Given the description of an element on the screen output the (x, y) to click on. 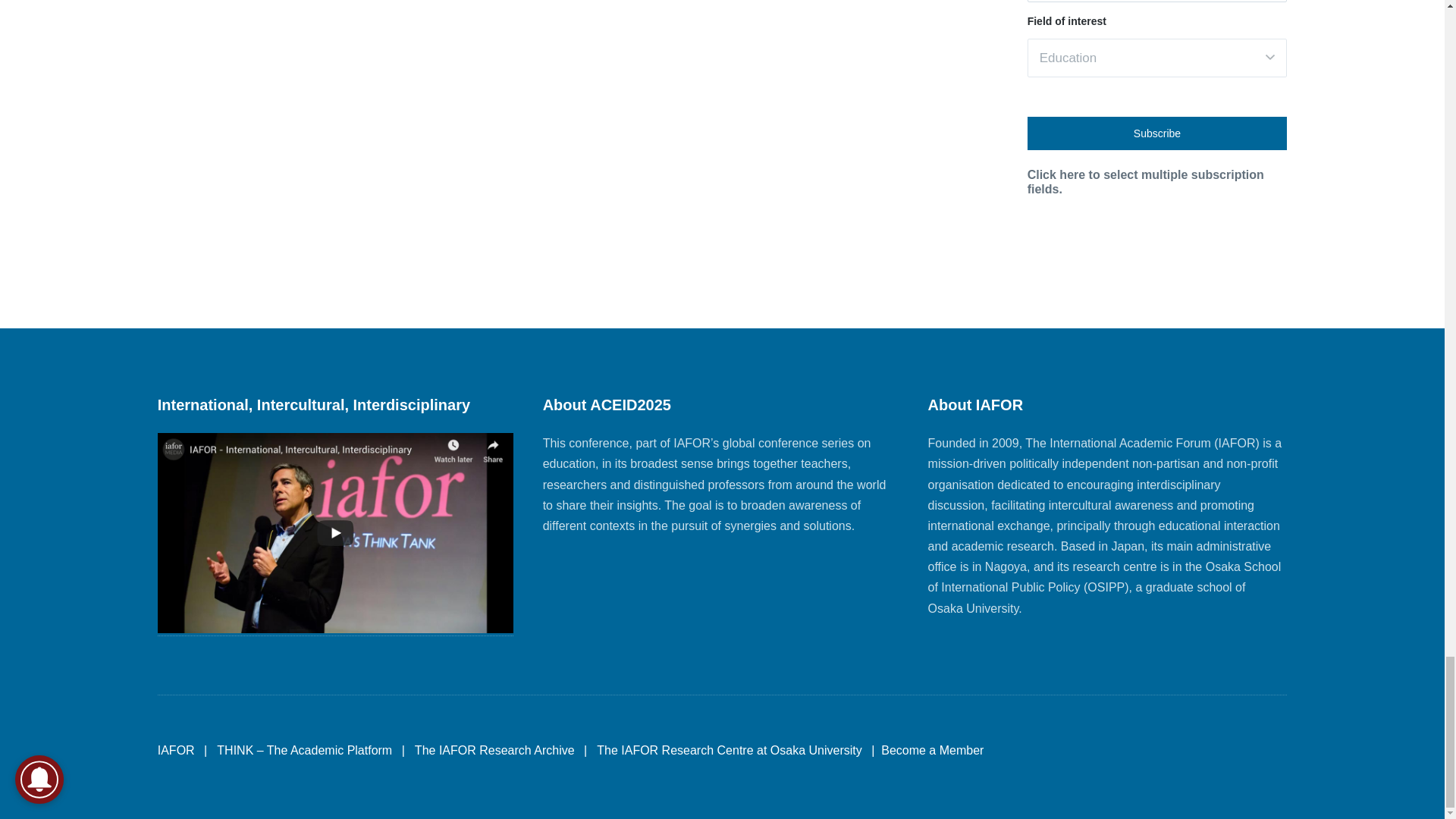
Subscribe (1157, 133)
